Given the description of an element on the screen output the (x, y) to click on. 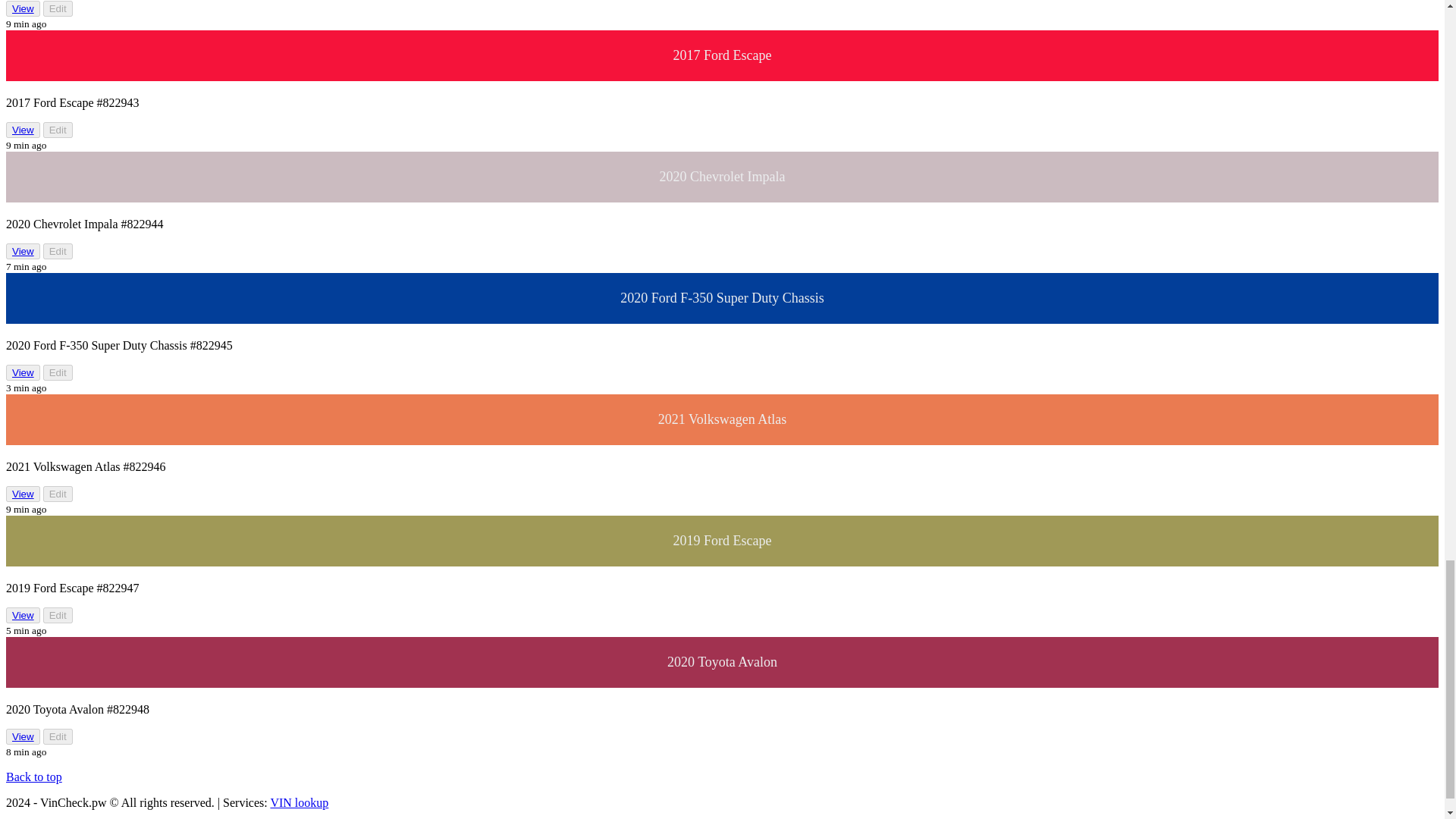
Edit (57, 130)
View (22, 130)
Edit (57, 251)
View (22, 8)
Edit (57, 8)
View (22, 372)
View (22, 8)
View (22, 129)
View (22, 372)
VIN lookup (299, 802)
